Given the description of an element on the screen output the (x, y) to click on. 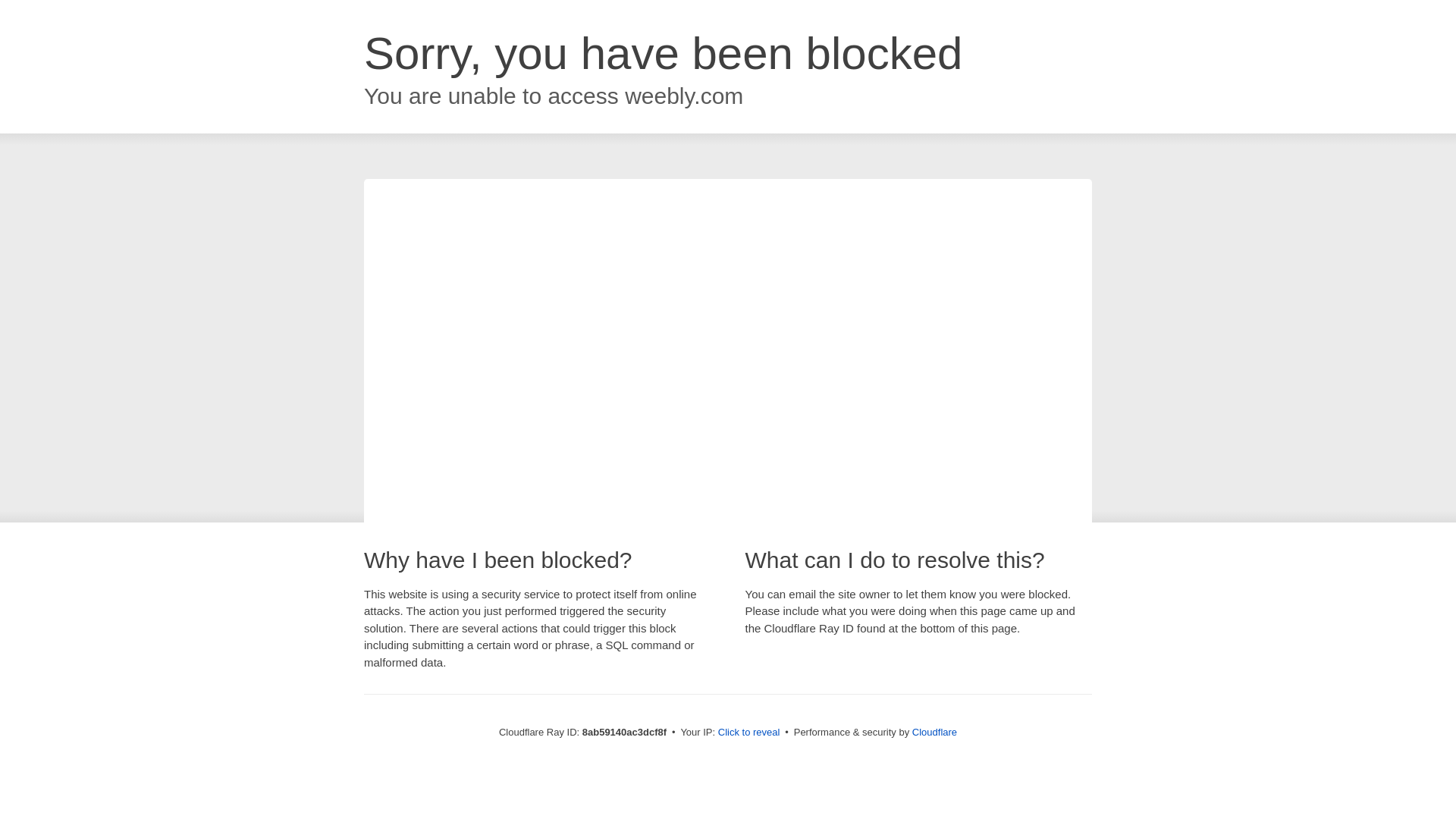
Cloudflare (934, 731)
Click to reveal (748, 732)
